Given the description of an element on the screen output the (x, y) to click on. 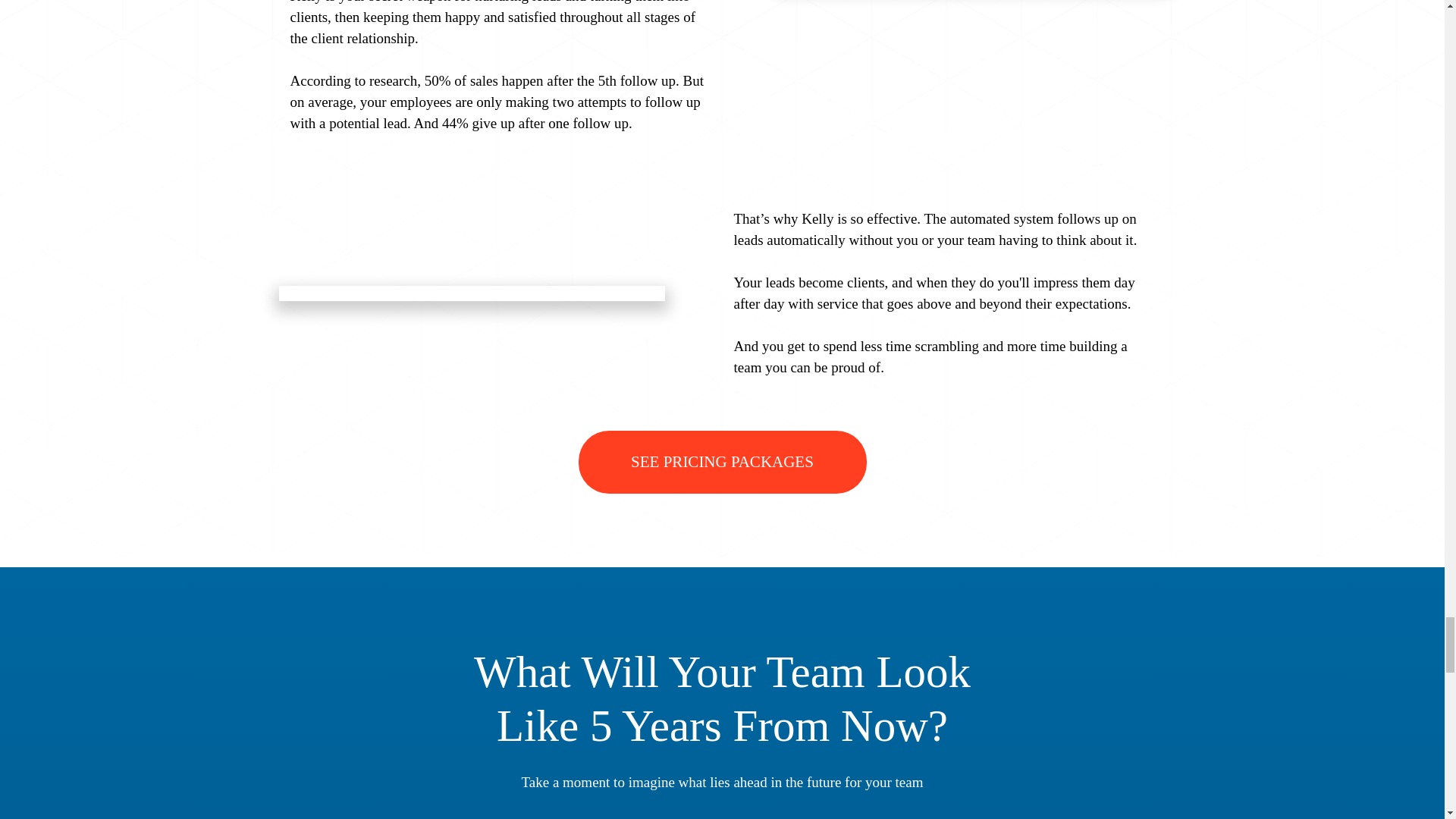
SEE PRICING PACKAGES (722, 461)
